Given the description of an element on the screen output the (x, y) to click on. 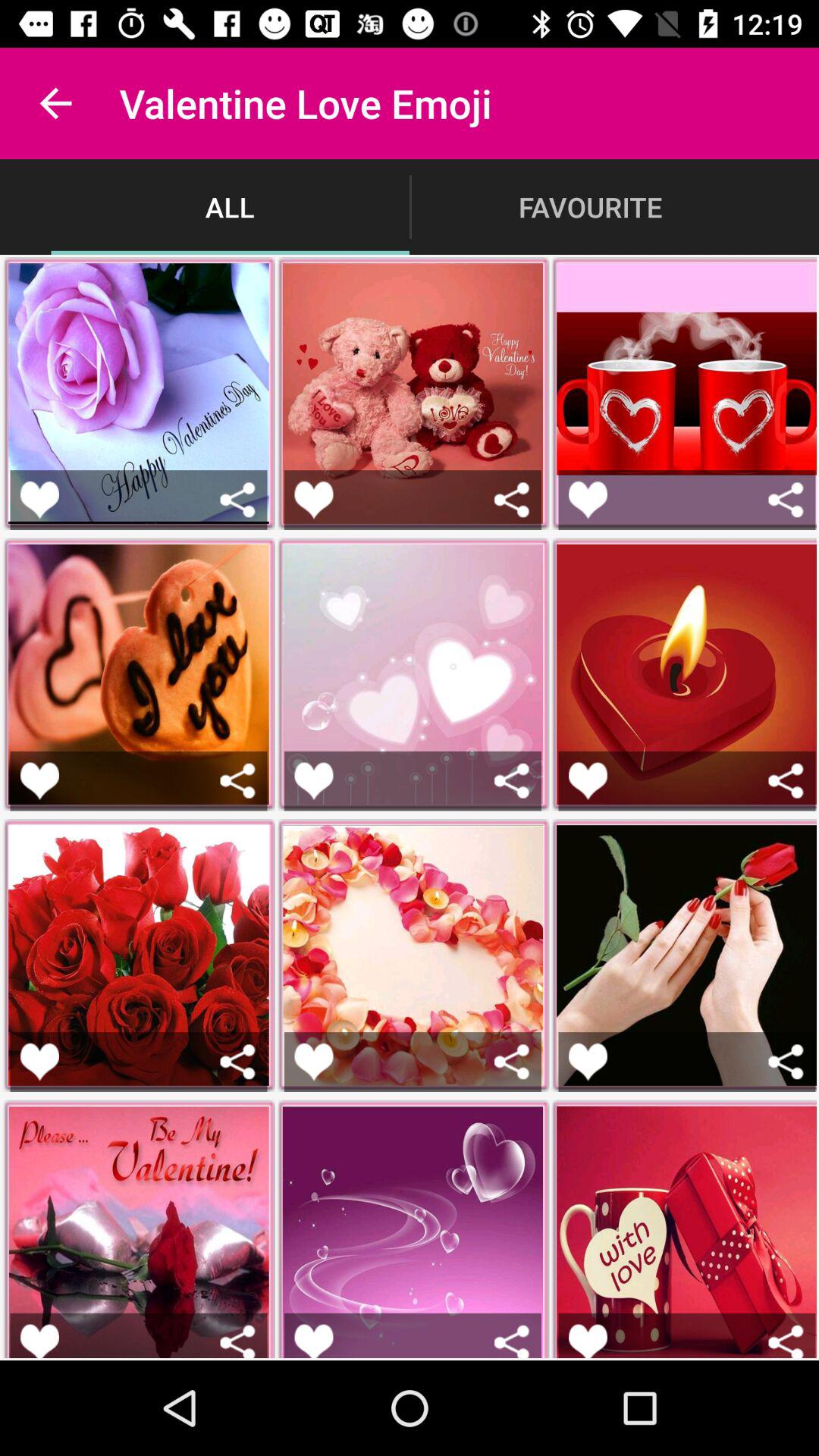
share picture (511, 780)
